Given the description of an element on the screen output the (x, y) to click on. 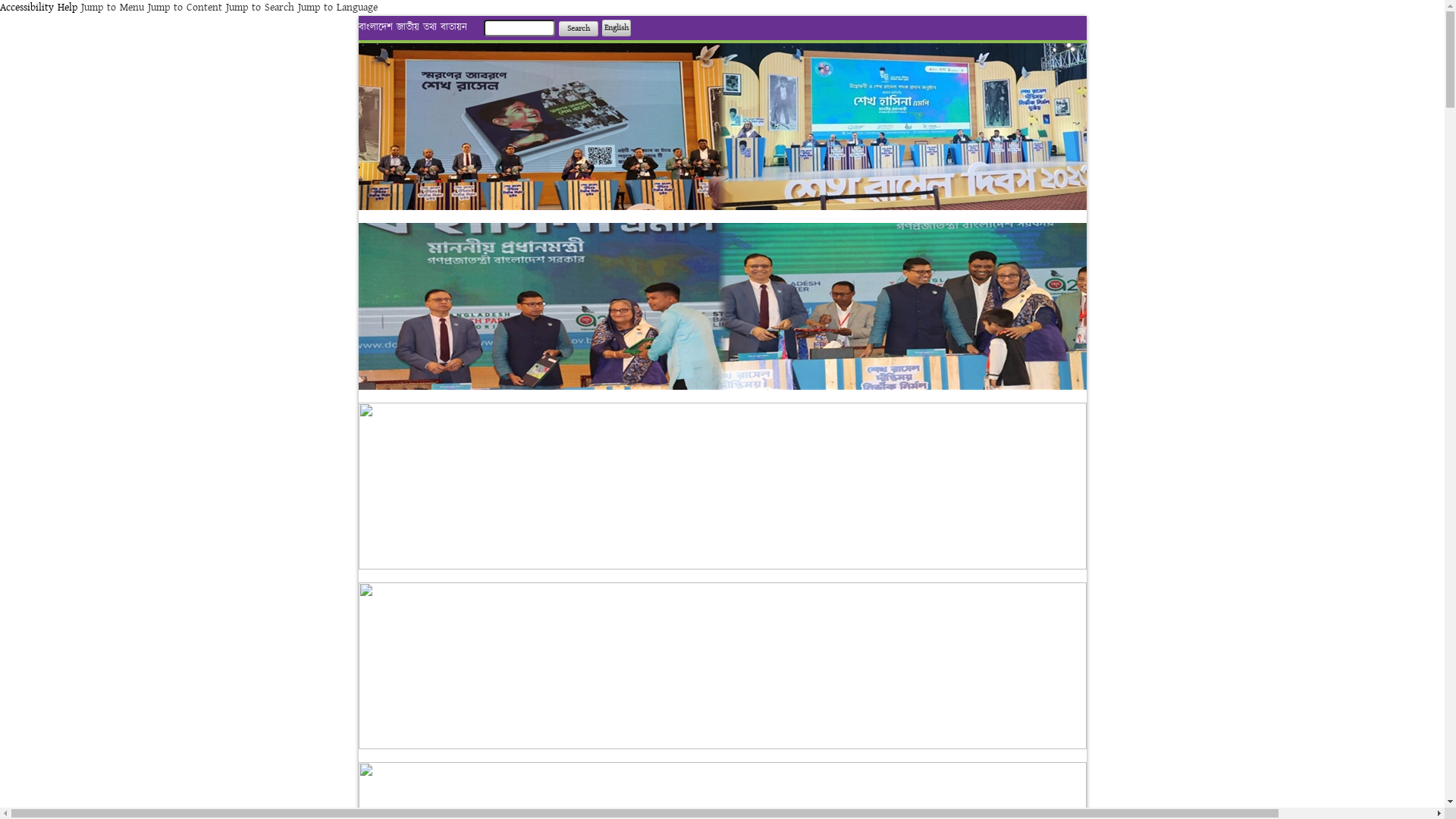
Search Element type: text (577, 28)
Jump to Search Element type: text (259, 7)
English Element type: text (616, 27)
Jump to Content Element type: text (184, 7)
Accessibility Help Element type: text (38, 7)
Jump to Menu Element type: text (112, 7)
Jump to Language Element type: text (337, 7)
